Given the description of an element on the screen output the (x, y) to click on. 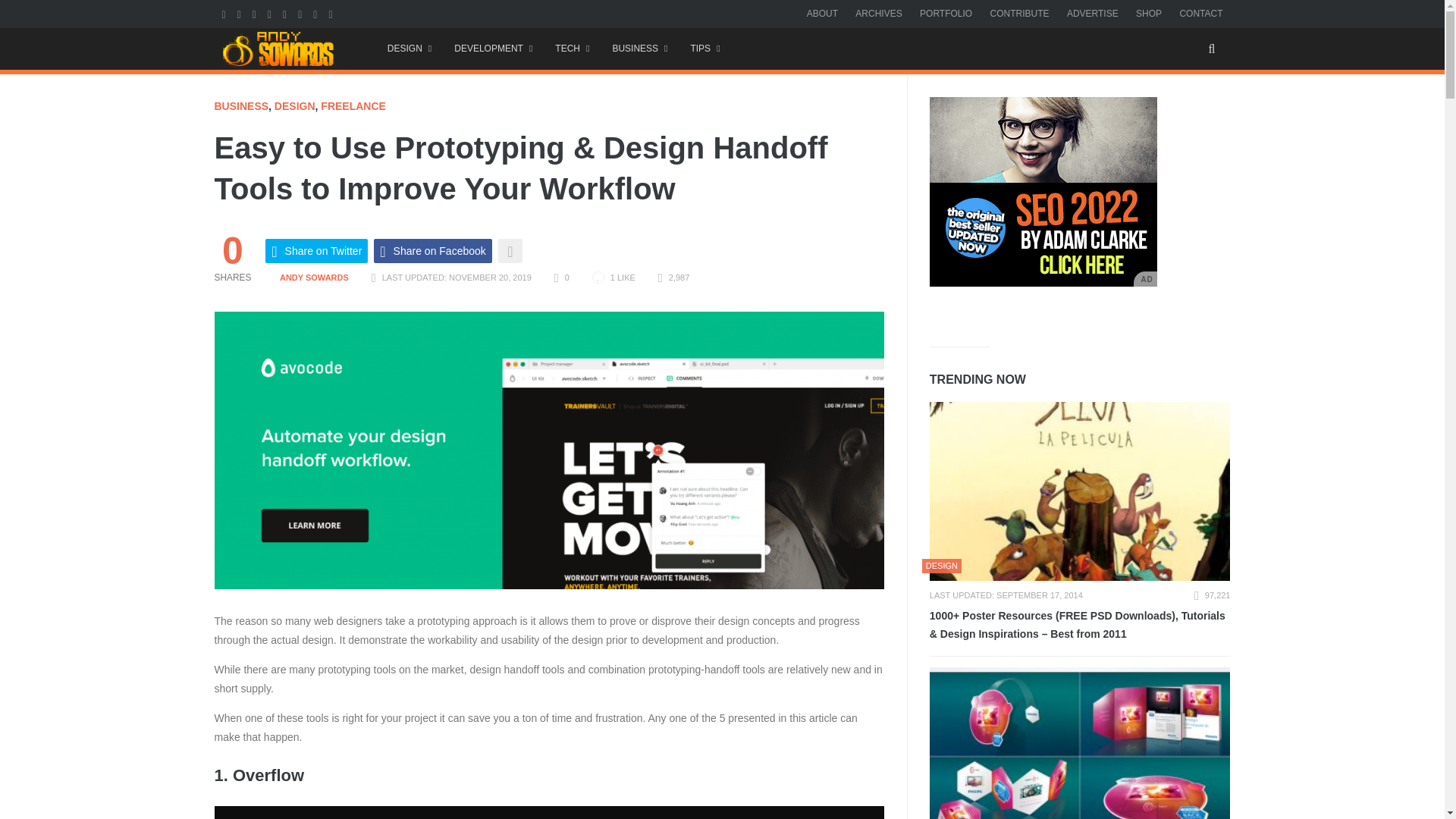
PORTFOLIO (946, 13)
TECH (571, 48)
ARCHIVES (878, 13)
ABOUT (822, 13)
Pinterest (301, 13)
Facebook (224, 13)
DESIGN (408, 48)
Twitter (240, 13)
Dribbble (332, 13)
Youtube (255, 13)
CONTRIBUTE (1019, 13)
RSS Feed (285, 13)
CONTACT (1201, 13)
Design (408, 48)
Send an Email (271, 13)
